Given the description of an element on the screen output the (x, y) to click on. 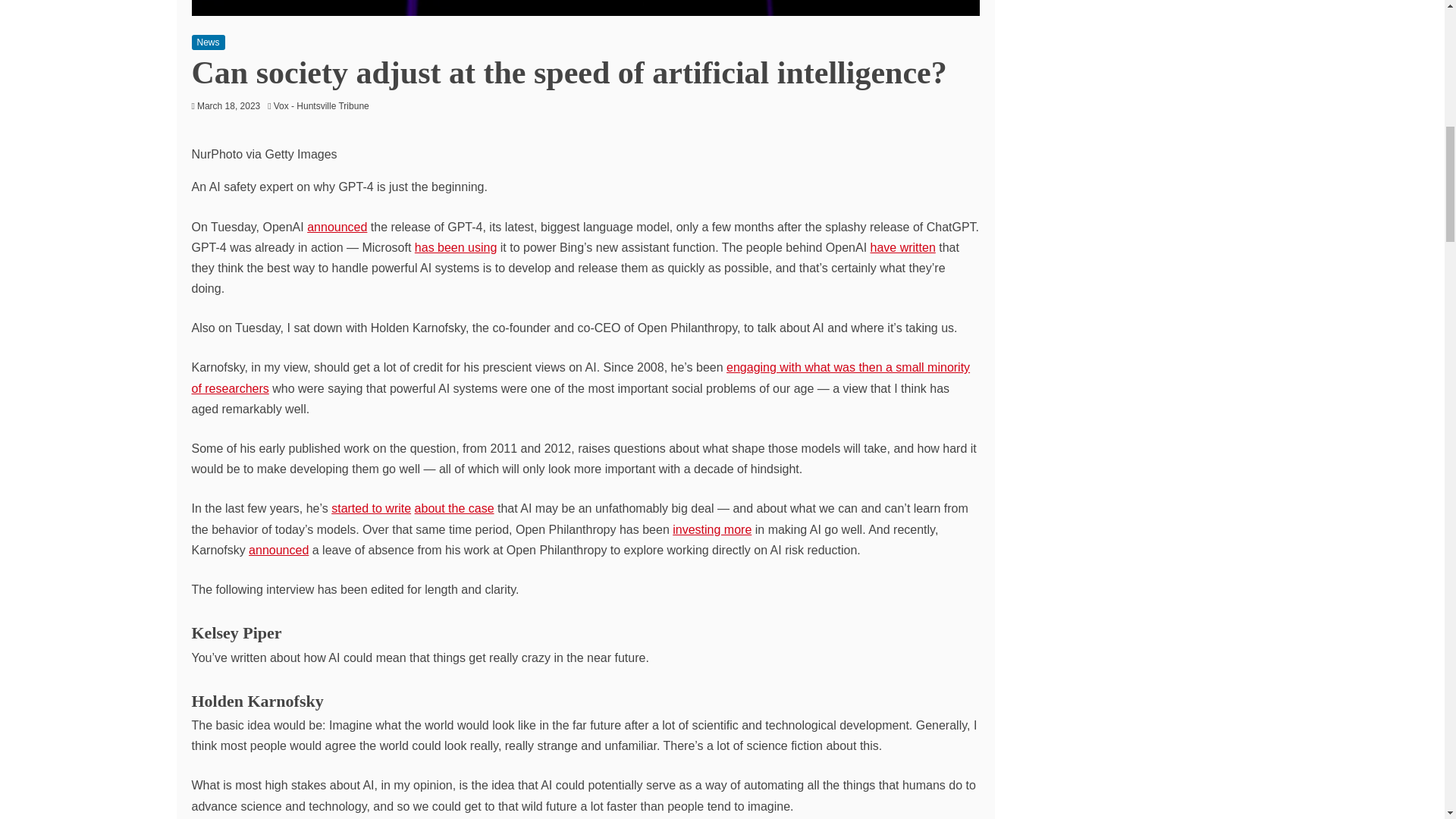
about the case (454, 508)
Vox - Huntsville Tribune (325, 105)
engaging with what was then a small minority of researchers (579, 377)
announced (336, 226)
News (207, 42)
investing more (711, 529)
has been using (455, 246)
started to write (370, 508)
announced (278, 549)
have written (903, 246)
March 18, 2023 (228, 105)
